Given the description of an element on the screen output the (x, y) to click on. 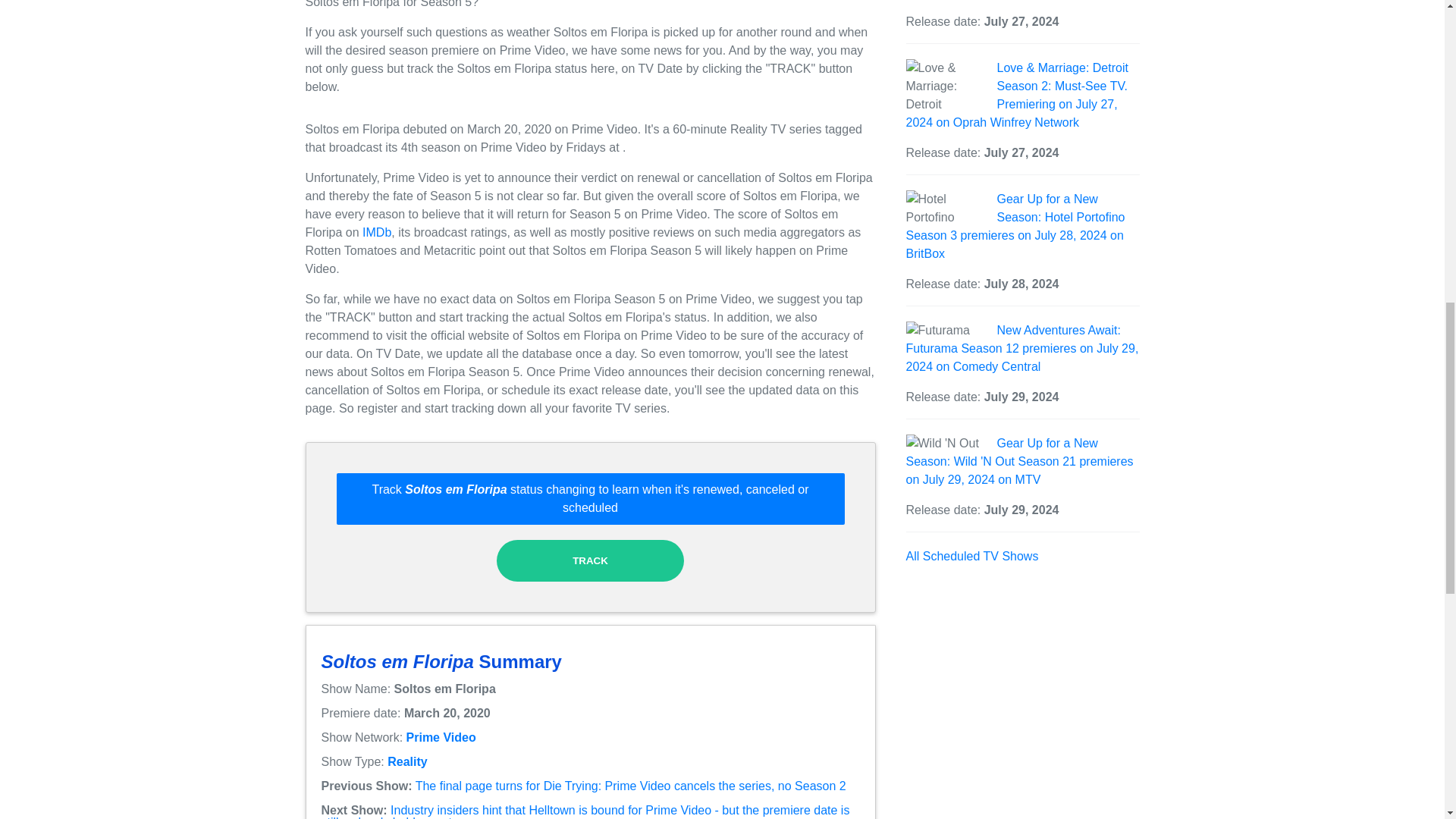
All Scheduled TV Shows (971, 555)
Prime Video (441, 737)
IMDb (376, 232)
TRACK (590, 560)
Reality (406, 761)
